Given the description of an element on the screen output the (x, y) to click on. 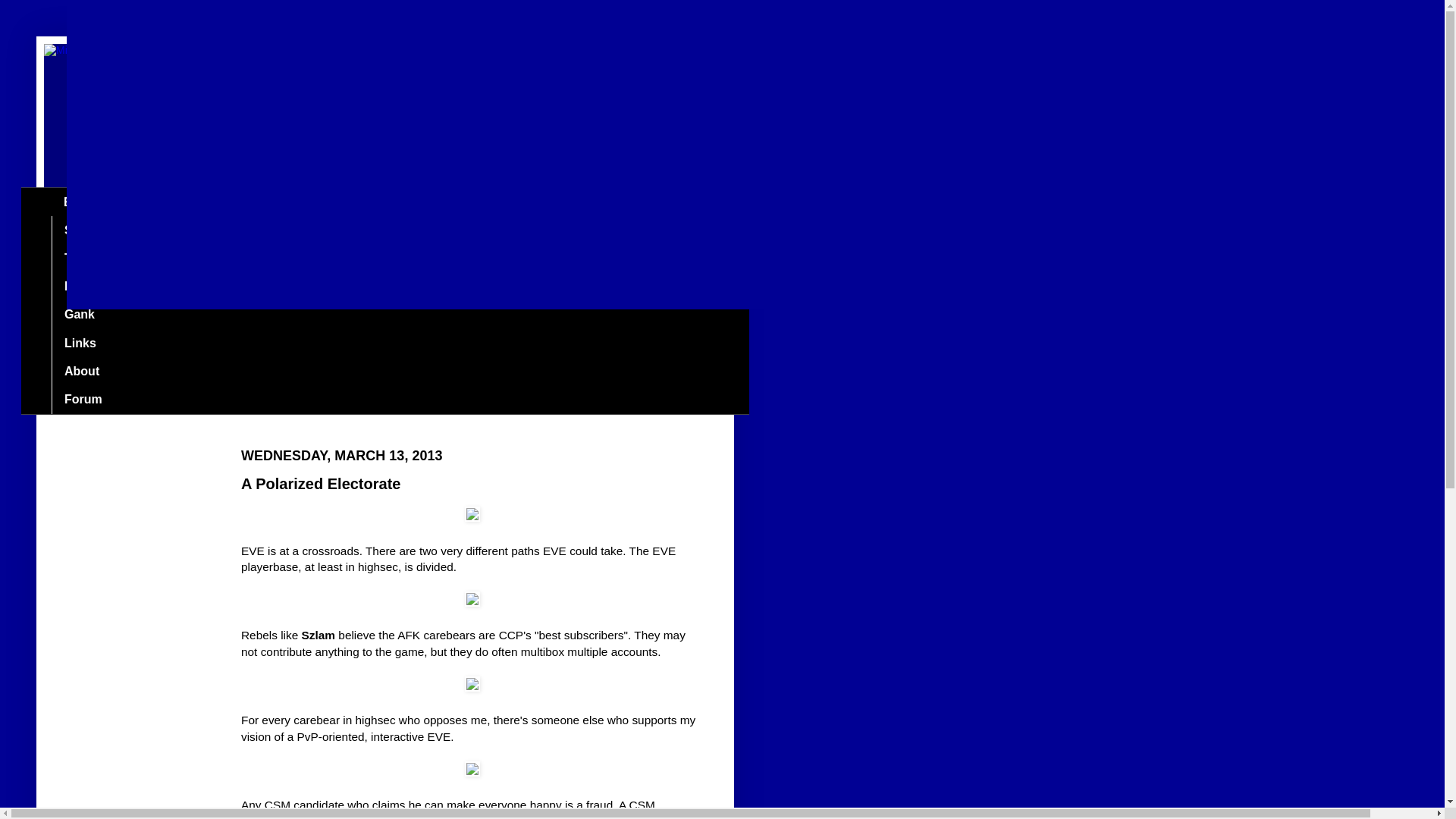
Gank (78, 315)
About (81, 370)
Forum (82, 398)
BLOG (80, 202)
The Code (91, 257)
Become an Agent (114, 286)
Shareholders (102, 230)
Links (78, 343)
